Given the description of an element on the screen output the (x, y) to click on. 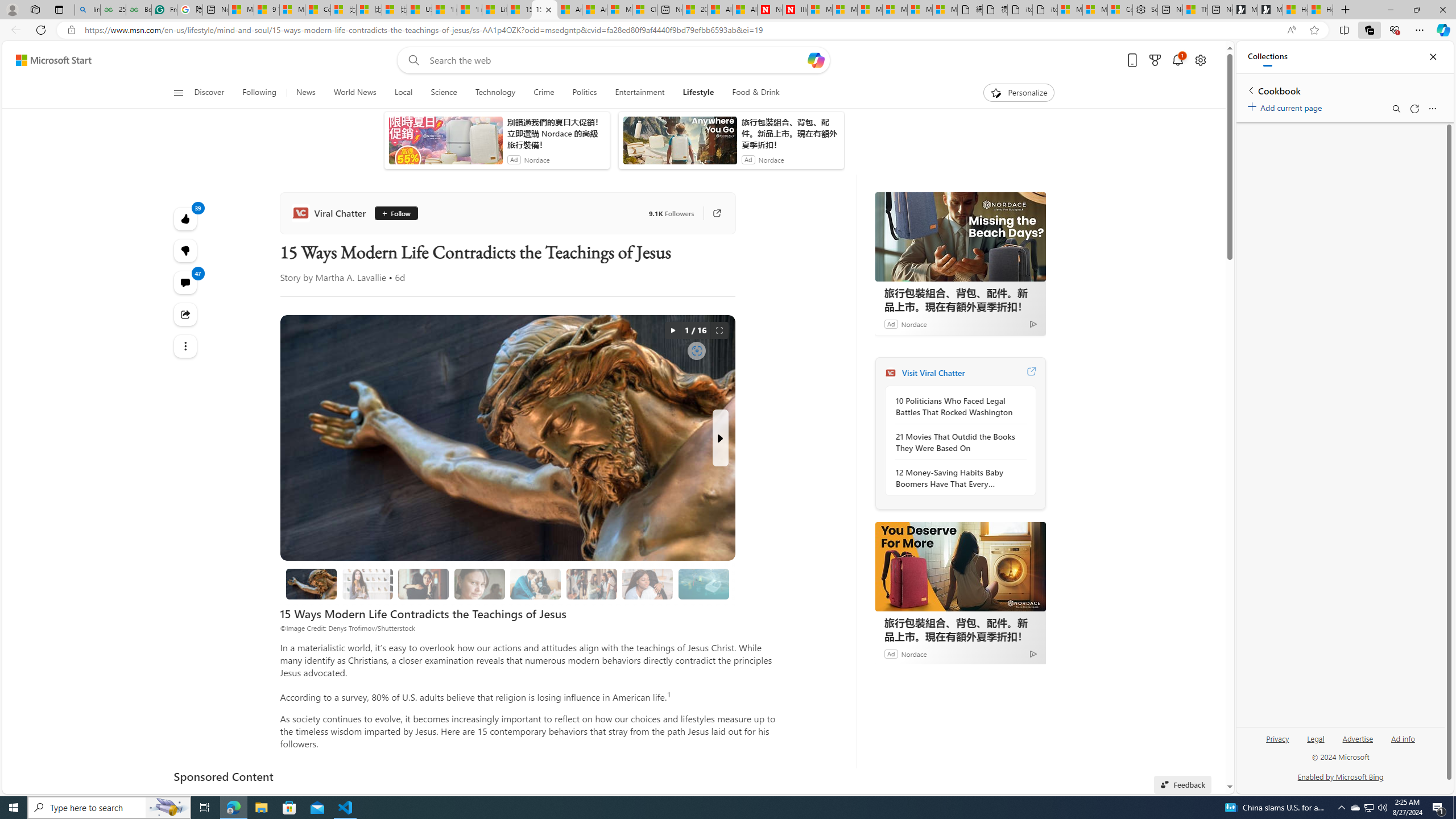
Collections (1369, 29)
Advertise (1358, 742)
Advertise (1357, 738)
View site information (70, 29)
Local (403, 92)
39 Like (184, 218)
Class: button-glyph (178, 92)
Skip to content (49, 59)
Share this story (184, 314)
Politics (584, 92)
Follow (395, 213)
Following (258, 92)
9. Gossiping and Backbiting (591, 583)
Close (1432, 56)
